Given the description of an element on the screen output the (x, y) to click on. 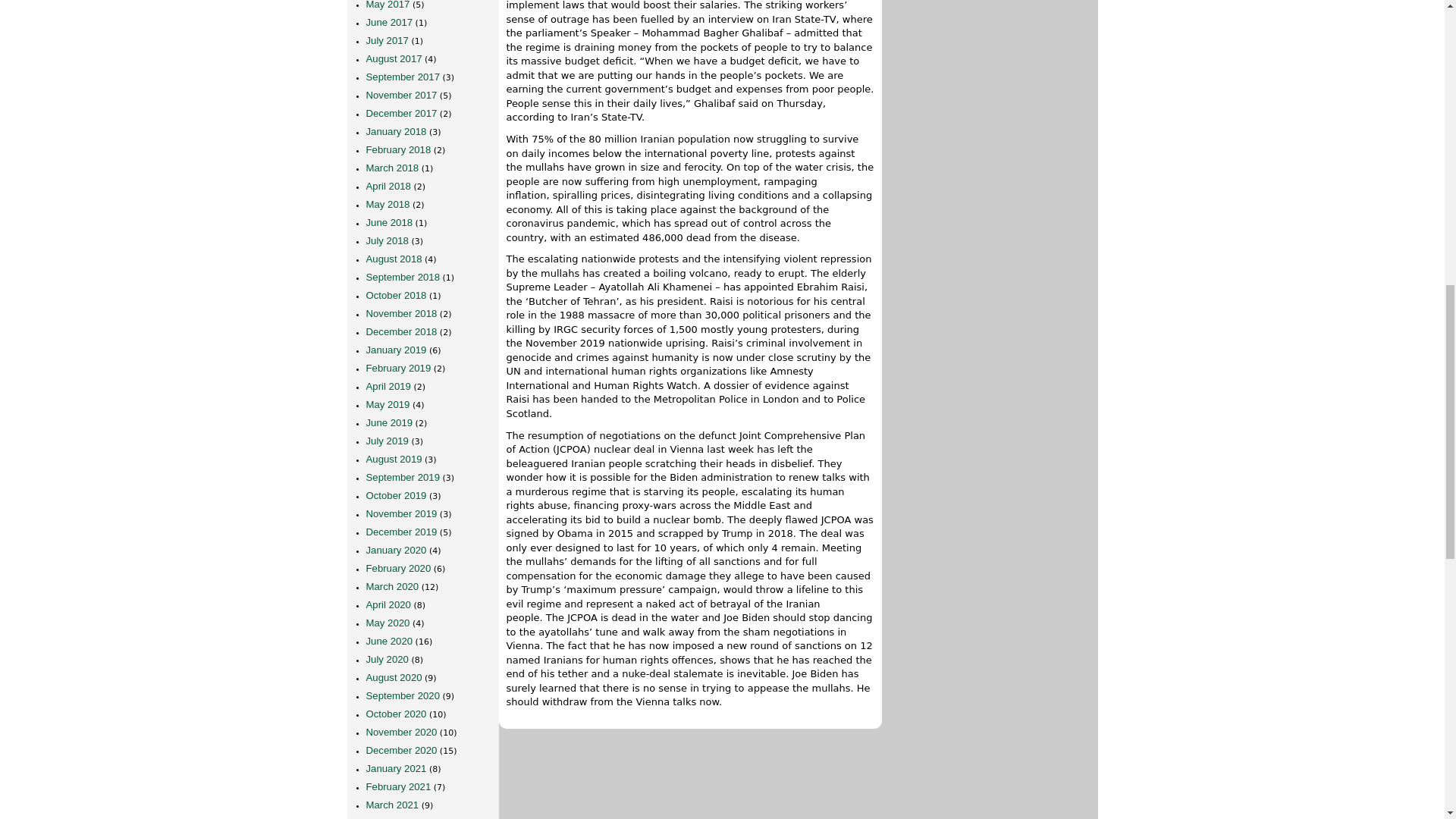
July 2017 (386, 40)
May 2017 (387, 4)
June 2017 (388, 21)
